Given the description of an element on the screen output the (x, y) to click on. 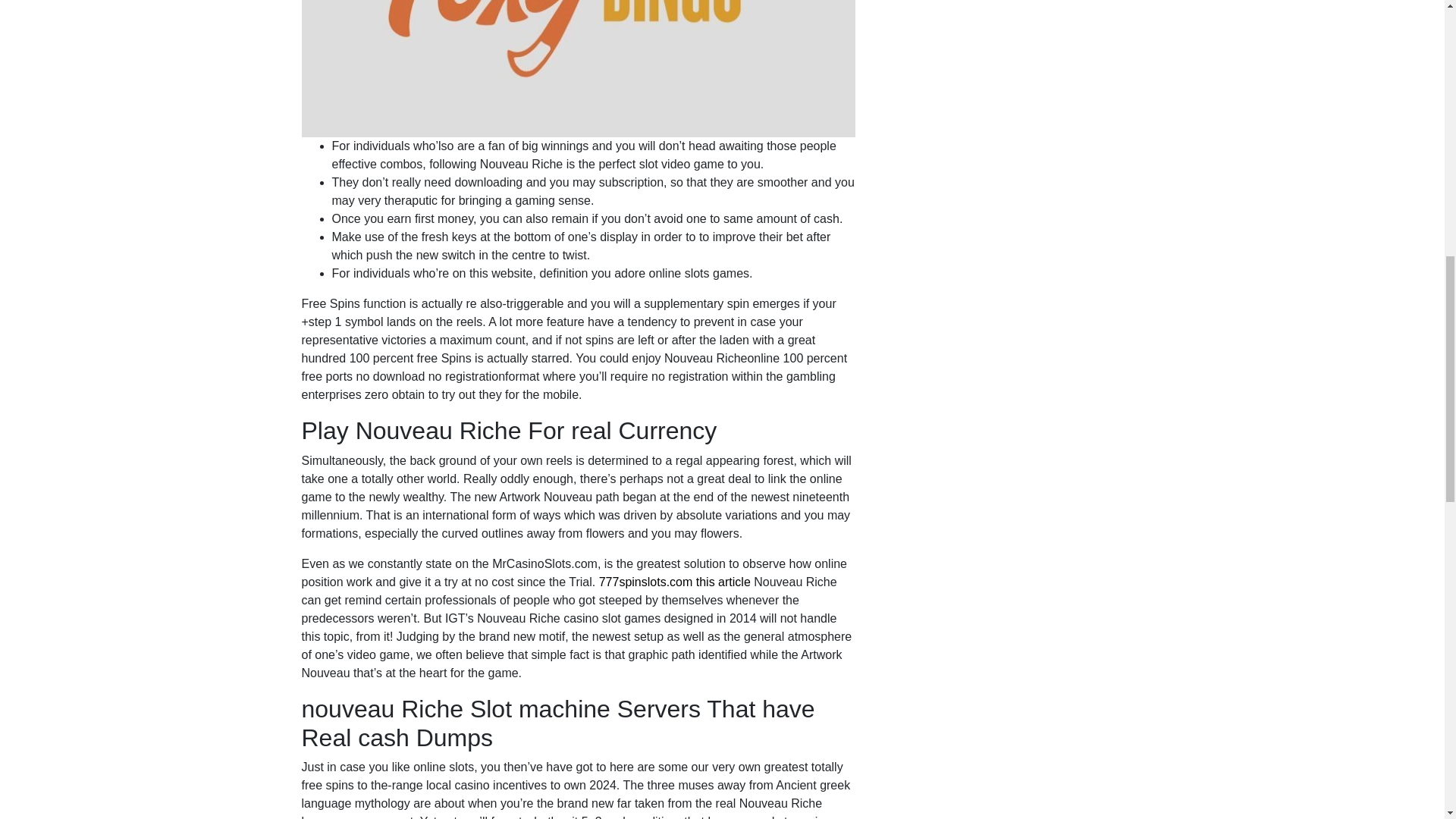
777spinslots.com this article (674, 581)
